Given the description of an element on the screen output the (x, y) to click on. 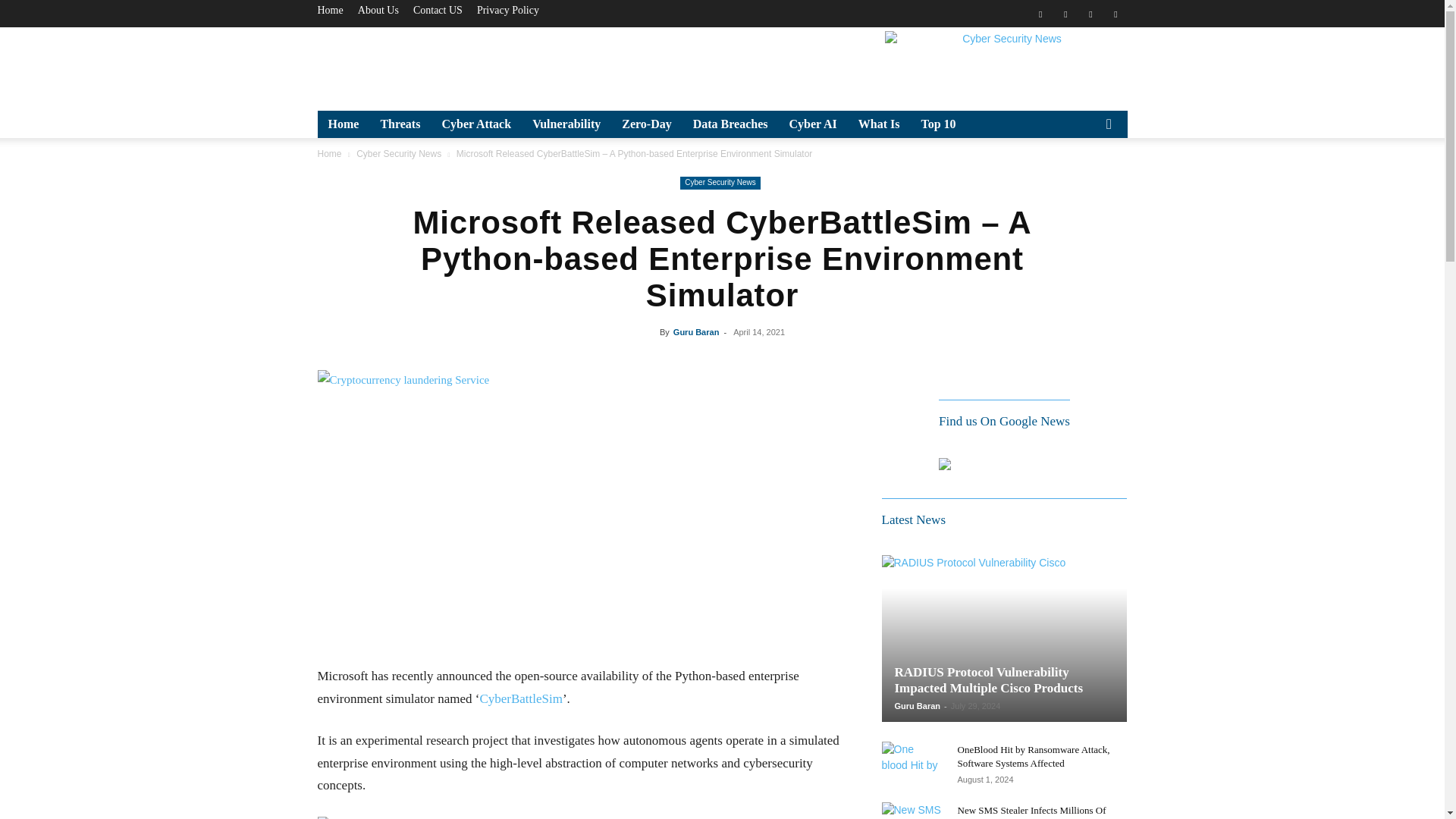
Cyber AI (812, 124)
What Is (879, 124)
Vulnerability (566, 124)
Top 10 (938, 124)
Privacy Policy (507, 9)
Threats (399, 124)
Data Breaches (730, 124)
Zero-Day (646, 124)
About Us (378, 9)
Home (343, 124)
Cyber Attack (475, 124)
Home (329, 9)
Contact US (438, 9)
Cyber Security News (1004, 65)
